Given the description of an element on the screen output the (x, y) to click on. 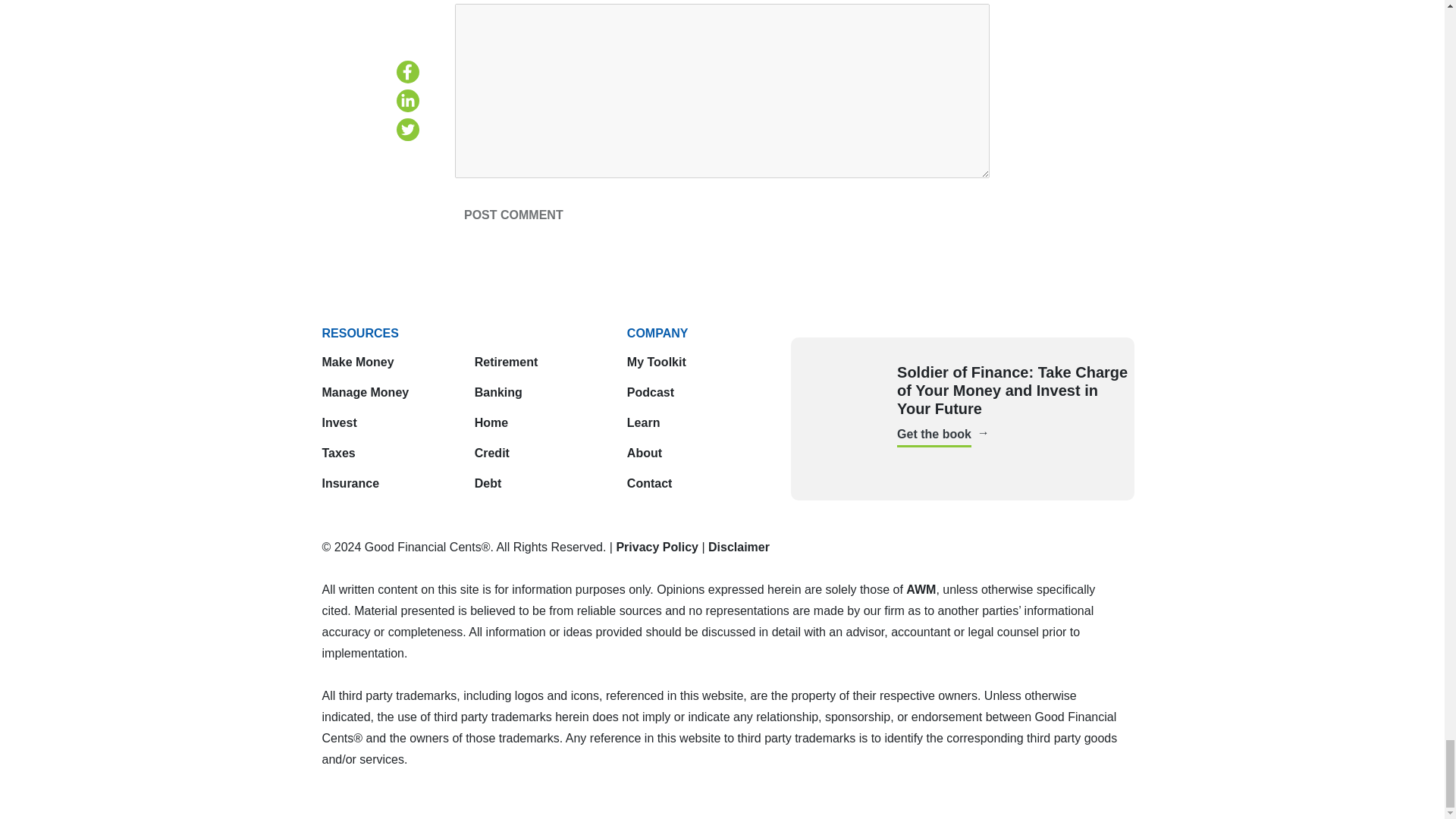
Post Comment (513, 215)
